Given the description of an element on the screen output the (x, y) to click on. 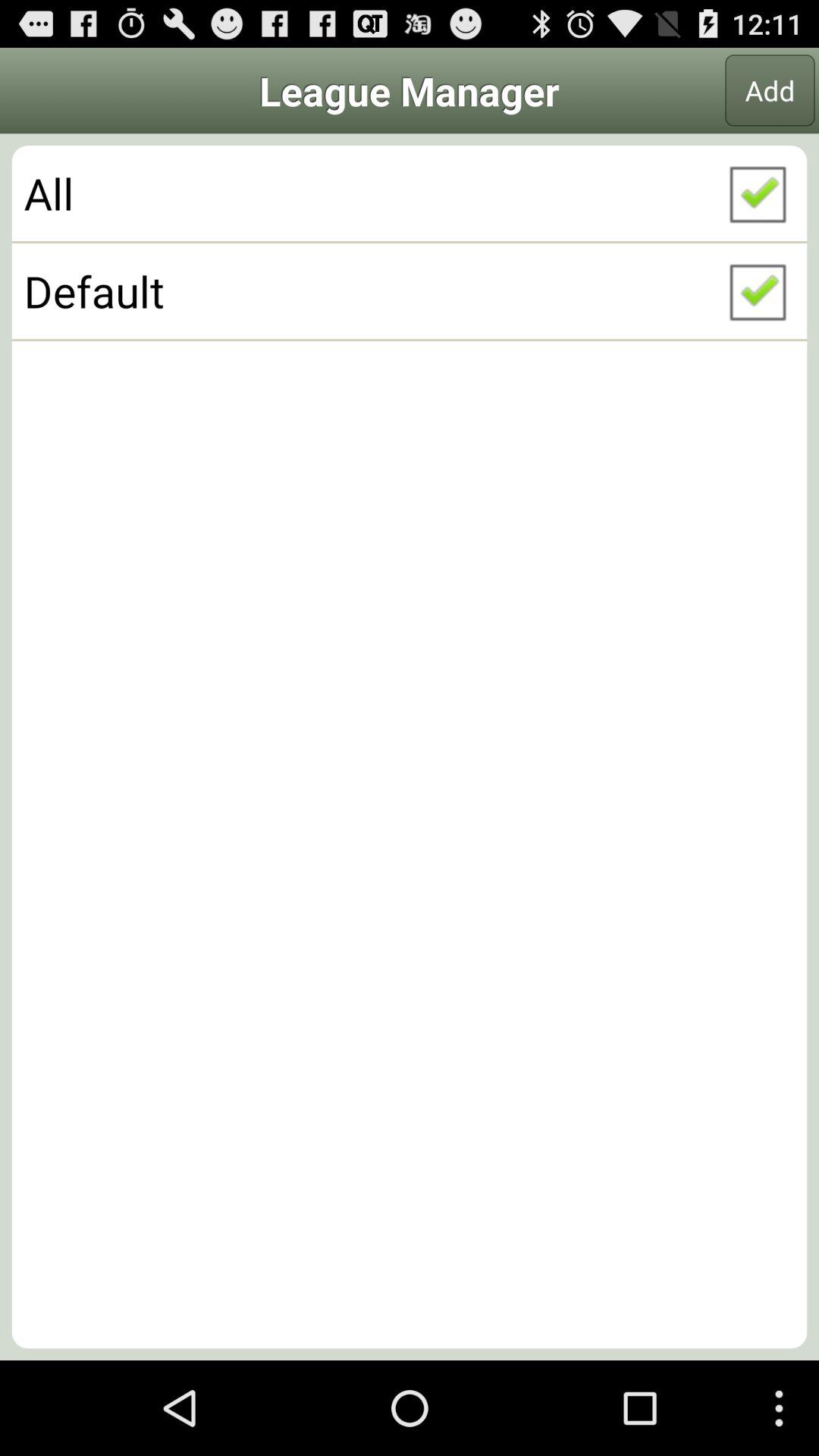
press default icon (409, 290)
